Given the description of an element on the screen output the (x, y) to click on. 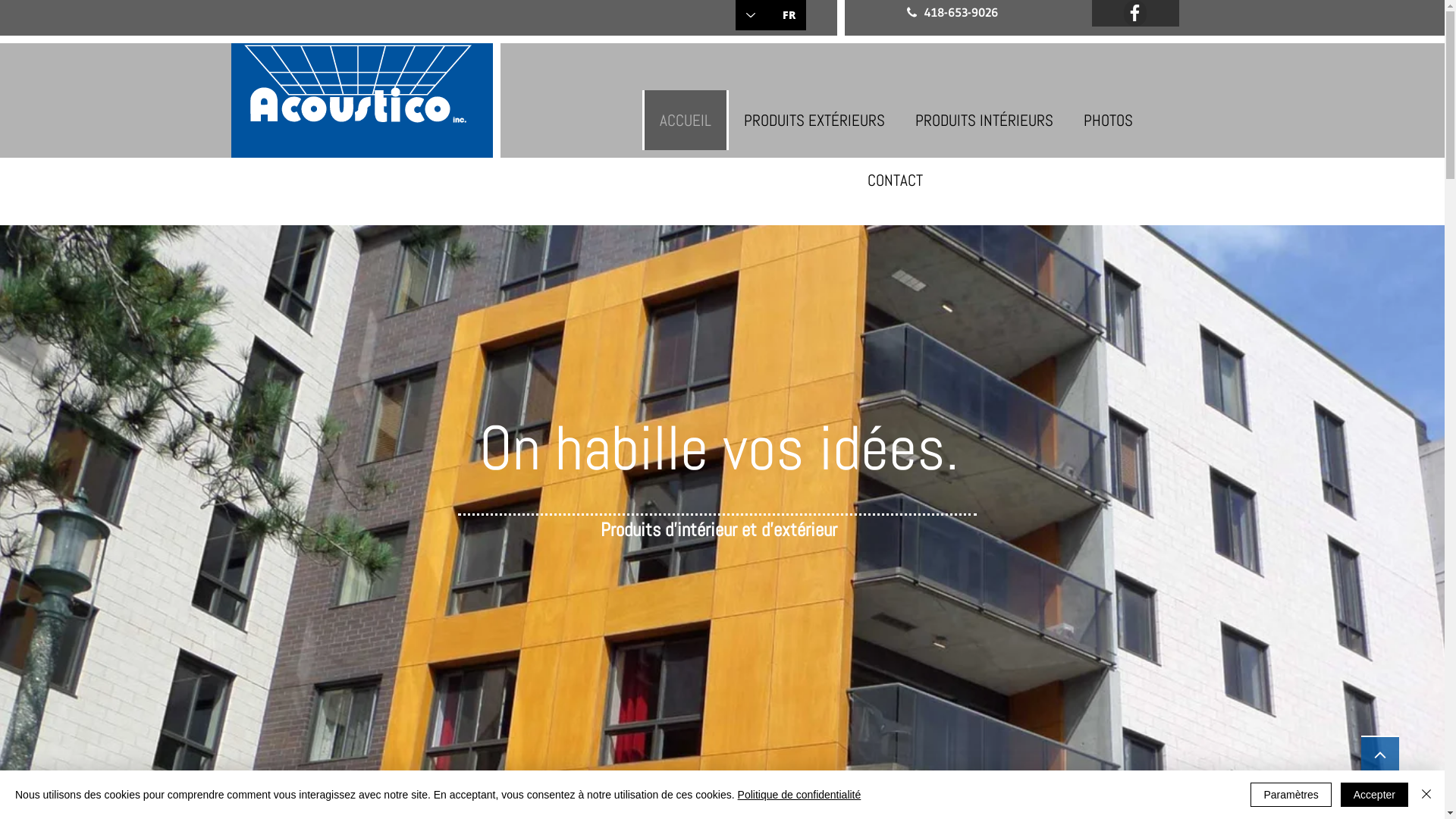
ACCUEIL Element type: text (684, 120)
Accepter Element type: text (1374, 794)
418-653-9026 Element type: text (958, 11)
PHOTOS Element type: text (1107, 120)
CONTACT Element type: text (895, 180)
